Given the description of an element on the screen output the (x, y) to click on. 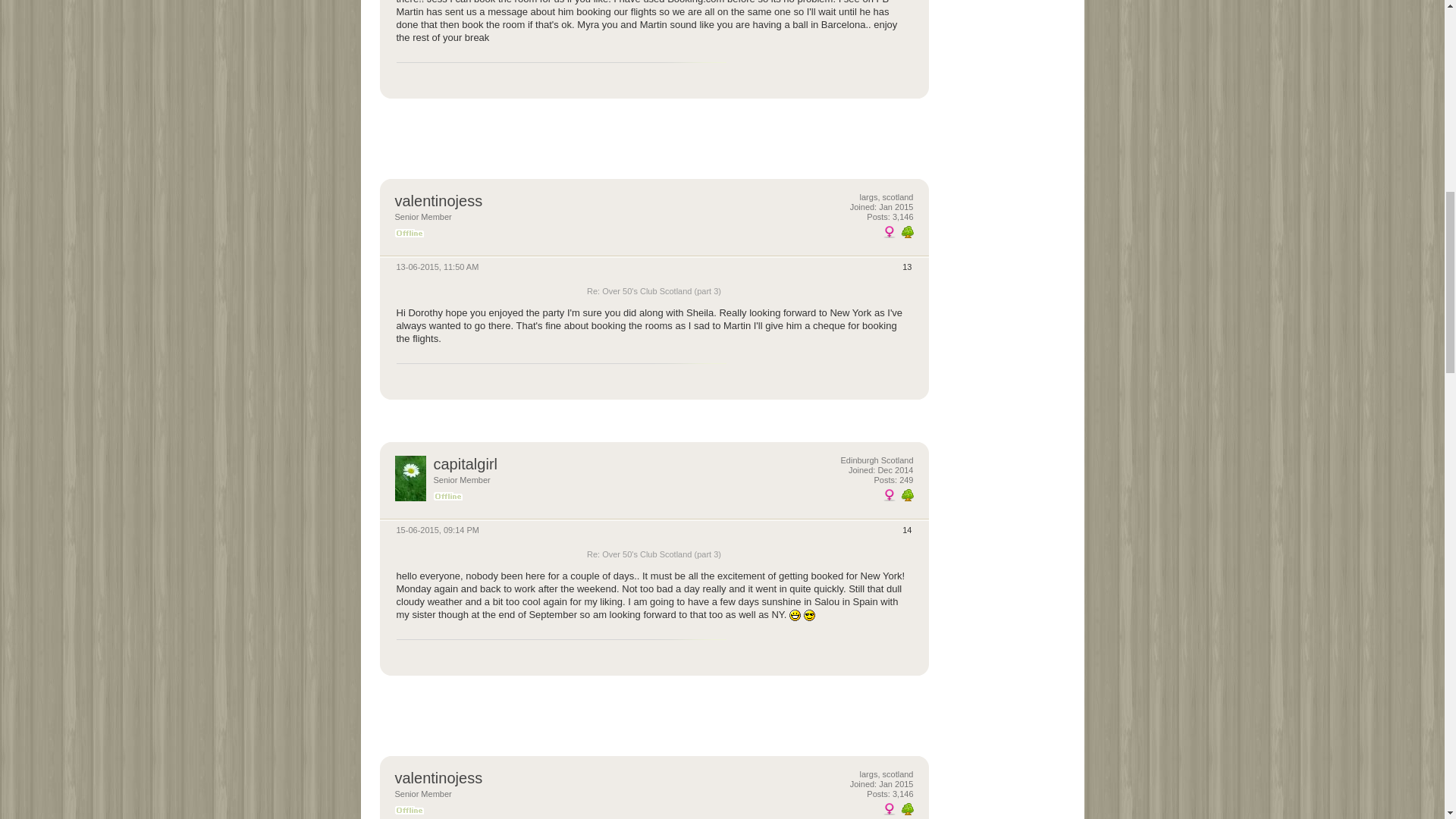
Advertisement (1003, 17)
